Given the description of an element on the screen output the (x, y) to click on. 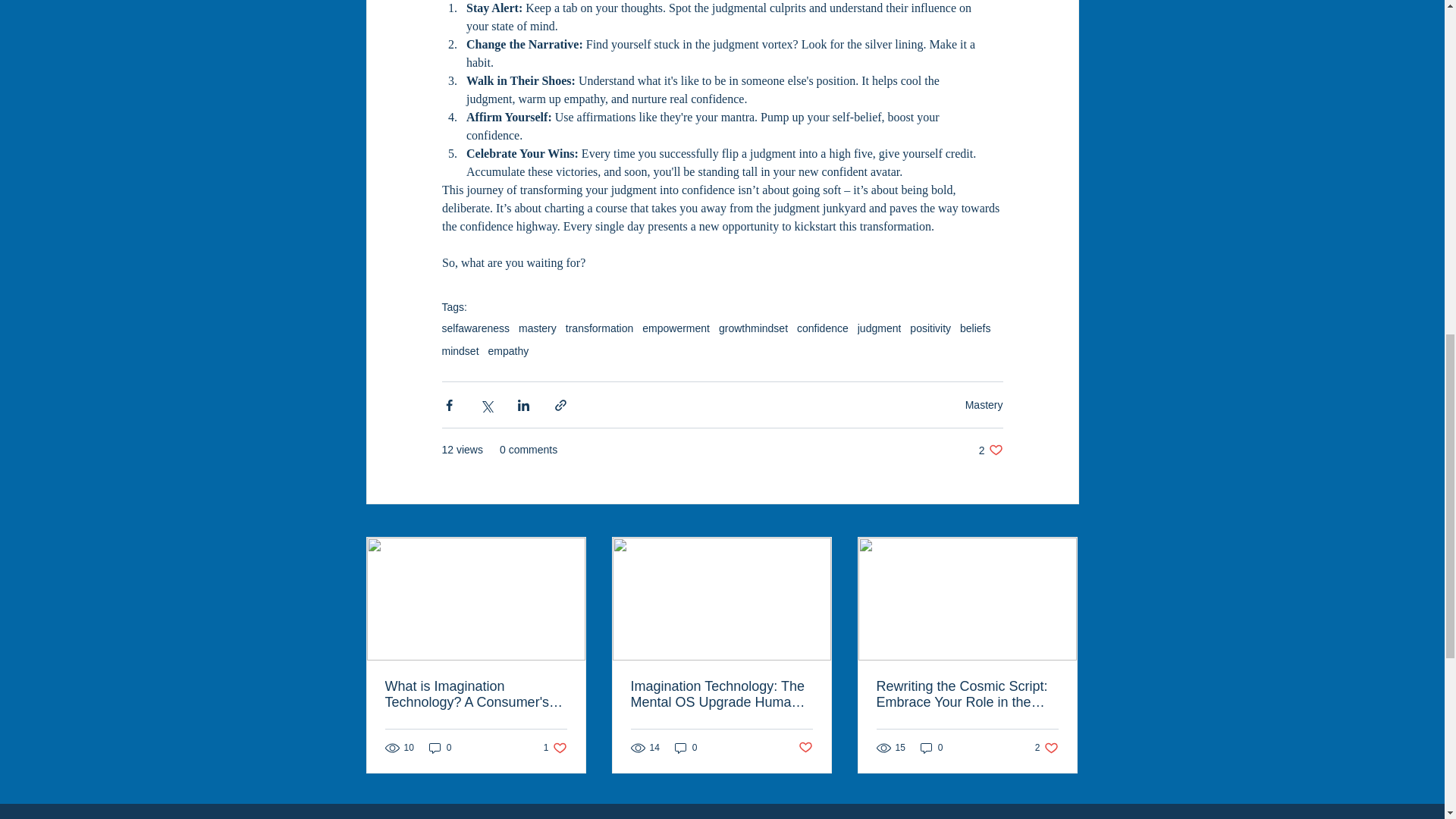
judgment (879, 328)
growthmindset (753, 328)
Mastery (984, 404)
transformation (599, 328)
confidence (822, 328)
positivity (930, 328)
empowerment (676, 328)
empathy (990, 450)
selfawareness (508, 350)
